Given the description of an element on the screen output the (x, y) to click on. 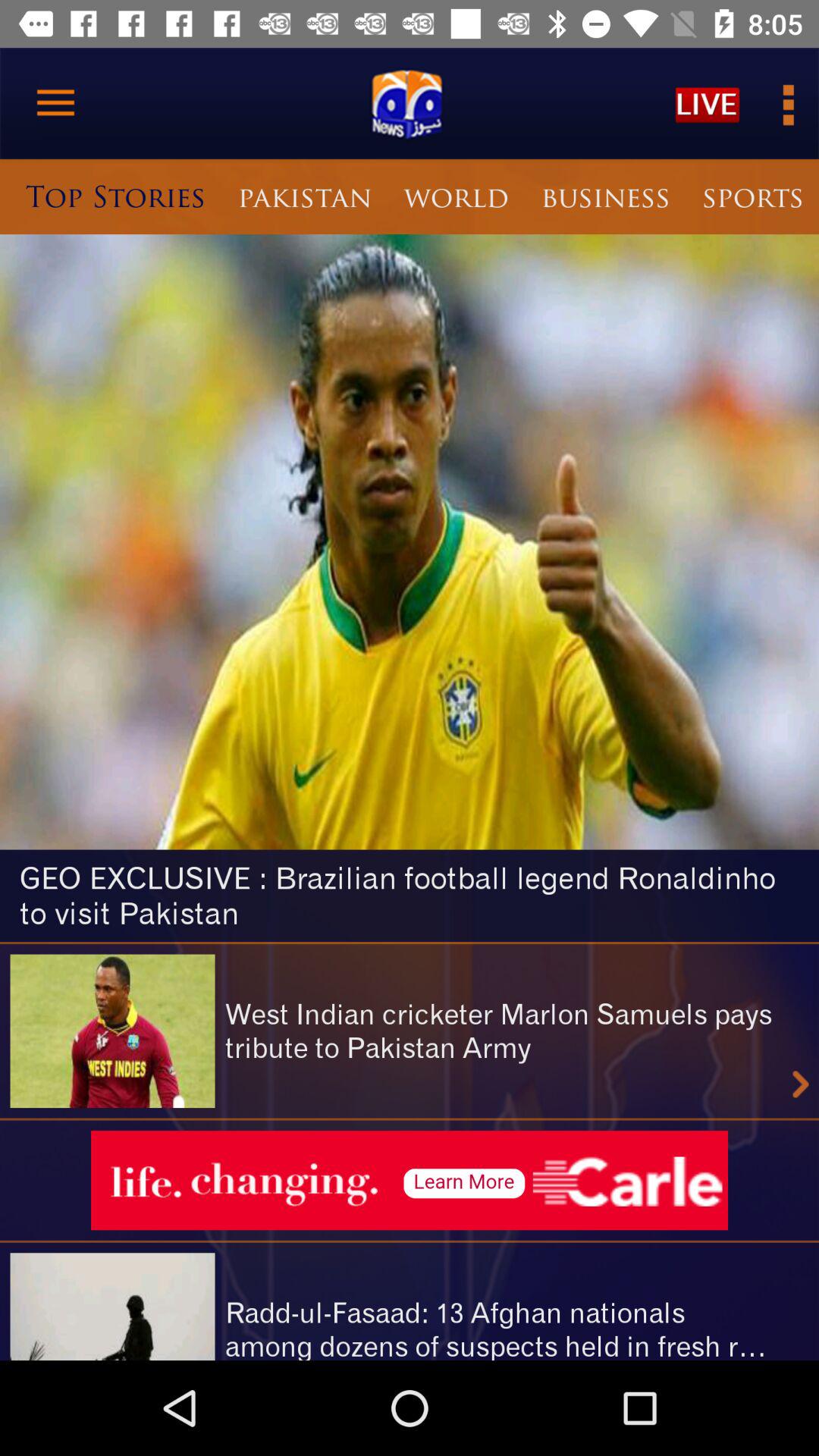
open advertisement page (409, 1180)
